Given the description of an element on the screen output the (x, y) to click on. 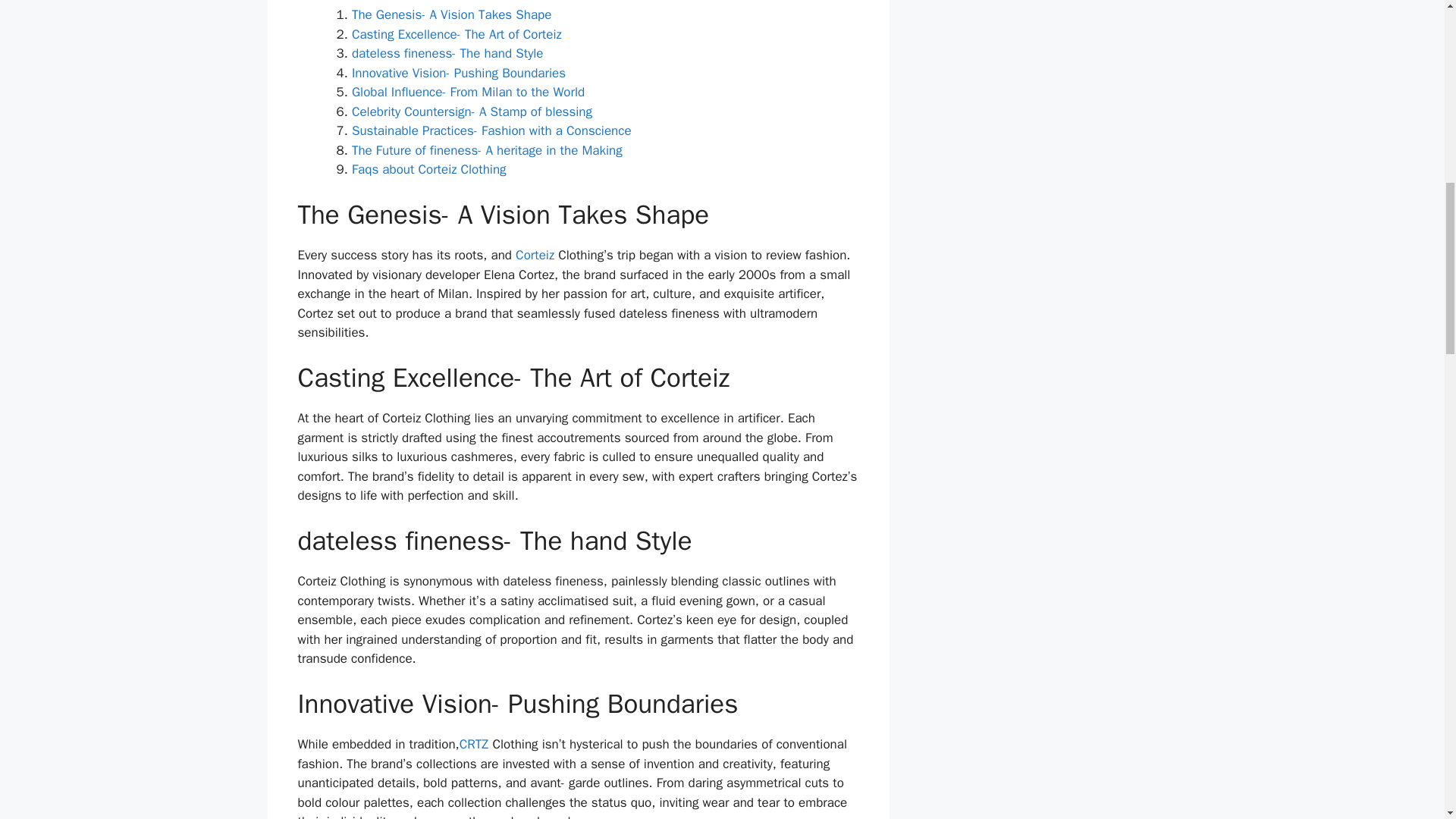
dateless fineness- The hand Style (447, 53)
Sustainable Practices- Fashion with a Conscience (491, 130)
The Genesis- A Vision Takes Shape (451, 14)
Global Influence- From Milan to the World (468, 91)
Innovative Vision- Pushing Boundaries (459, 73)
Celebrity Countersign- A Stamp of blessing (472, 111)
Casting Excellence- The Art of Corteiz (457, 34)
RTZ (477, 744)
The Future of fineness- A heritage in the Making (487, 150)
Corteiz (534, 254)
Scroll back to top (1406, 720)
Faqs about Corteiz Clothing (429, 169)
